Given the description of an element on the screen output the (x, y) to click on. 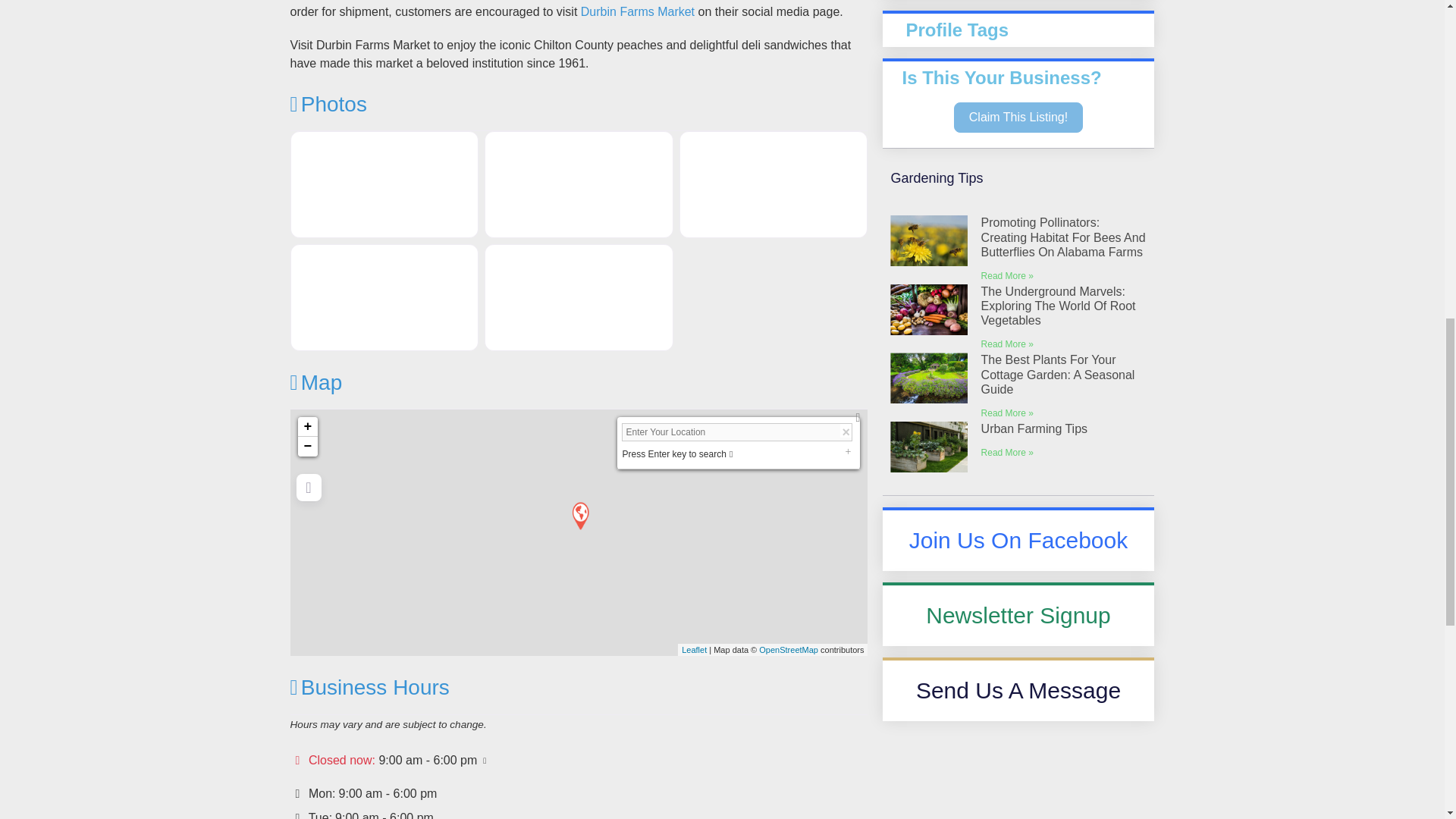
Expand opening hours (427, 759)
Zoom out (307, 446)
Zoom in (307, 426)
A JS library for interactive maps (693, 649)
